Given the description of an element on the screen output the (x, y) to click on. 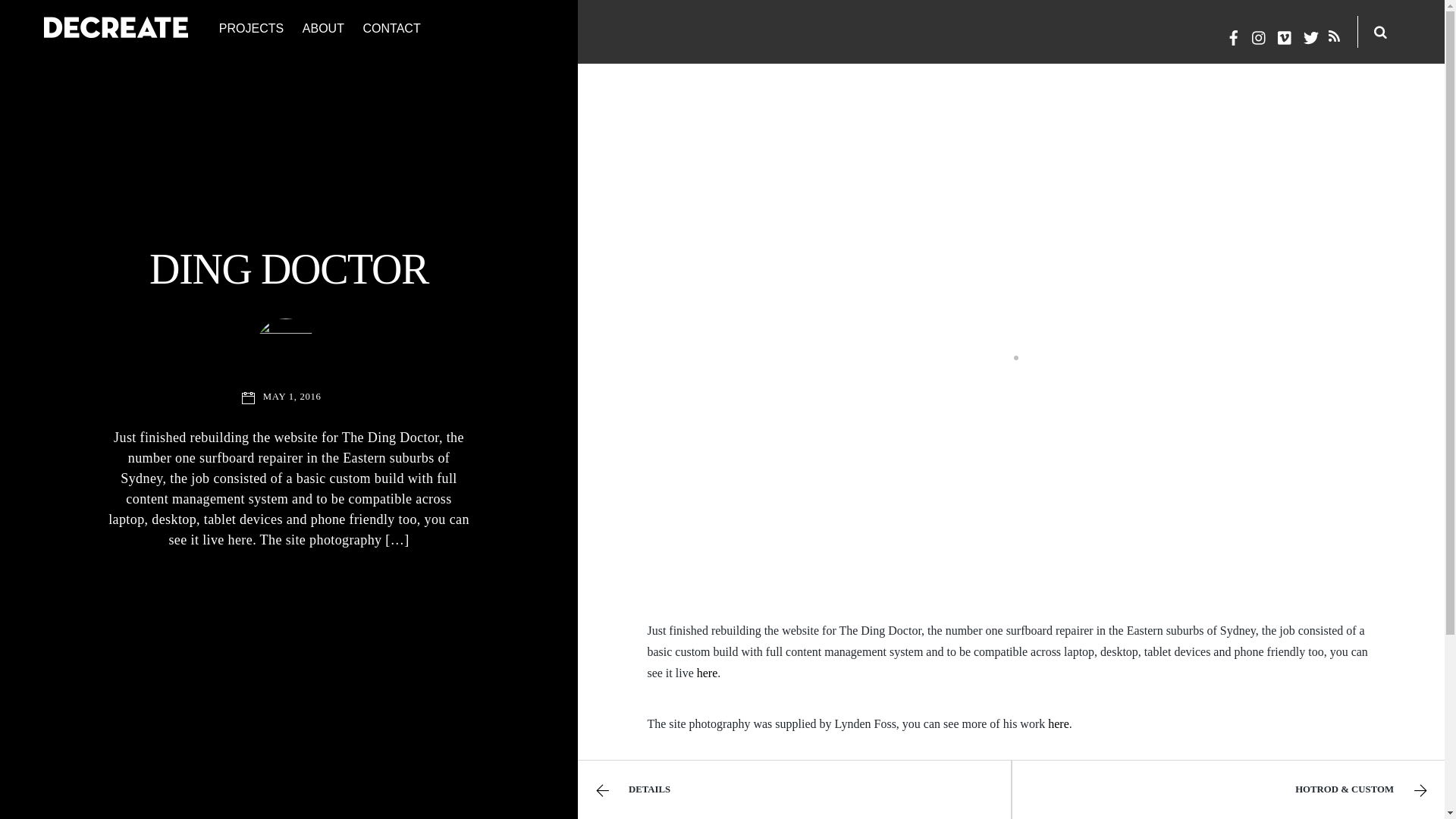
PROJECTS Element type: text (251, 31)
here Element type: text (707, 672)
CONTACT Element type: text (390, 31)
decreate_logo_white Element type: hover (115, 26)
RSS Element type: text (1333, 34)
ABOUT Element type: text (322, 31)
DING DOCTOR Element type: text (288, 268)
here Element type: text (1058, 723)
DECREATE Element type: hover (115, 28)
